Given the description of an element on the screen output the (x, y) to click on. 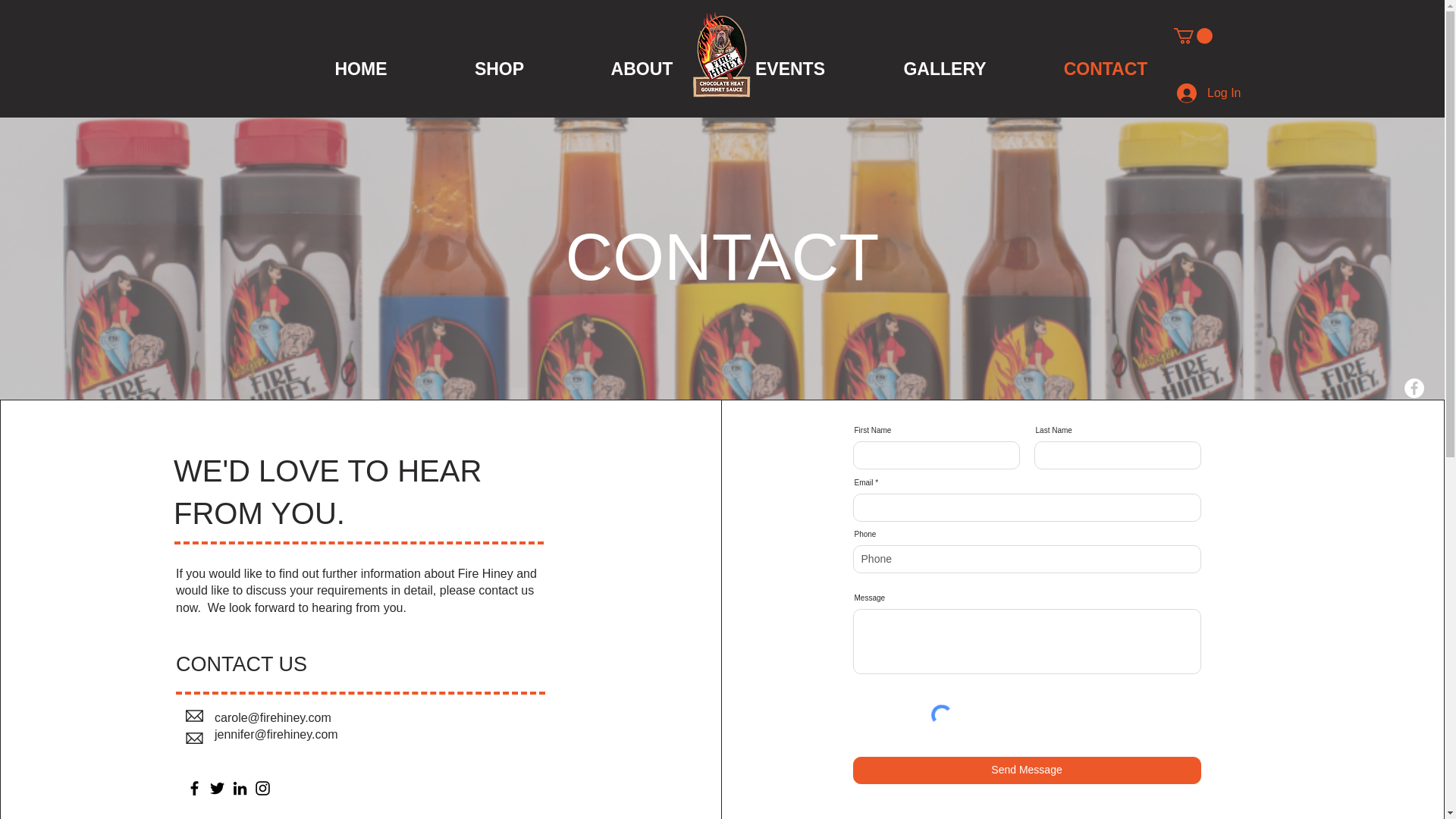
EVENTS (790, 68)
HOME (360, 68)
Send Message (1027, 769)
ABOUT (642, 68)
Log In (1208, 92)
SHOP (499, 68)
CONTACT (1105, 68)
GALLERY (944, 68)
Hiney202108-711x1024.png (721, 56)
